Given the description of an element on the screen output the (x, y) to click on. 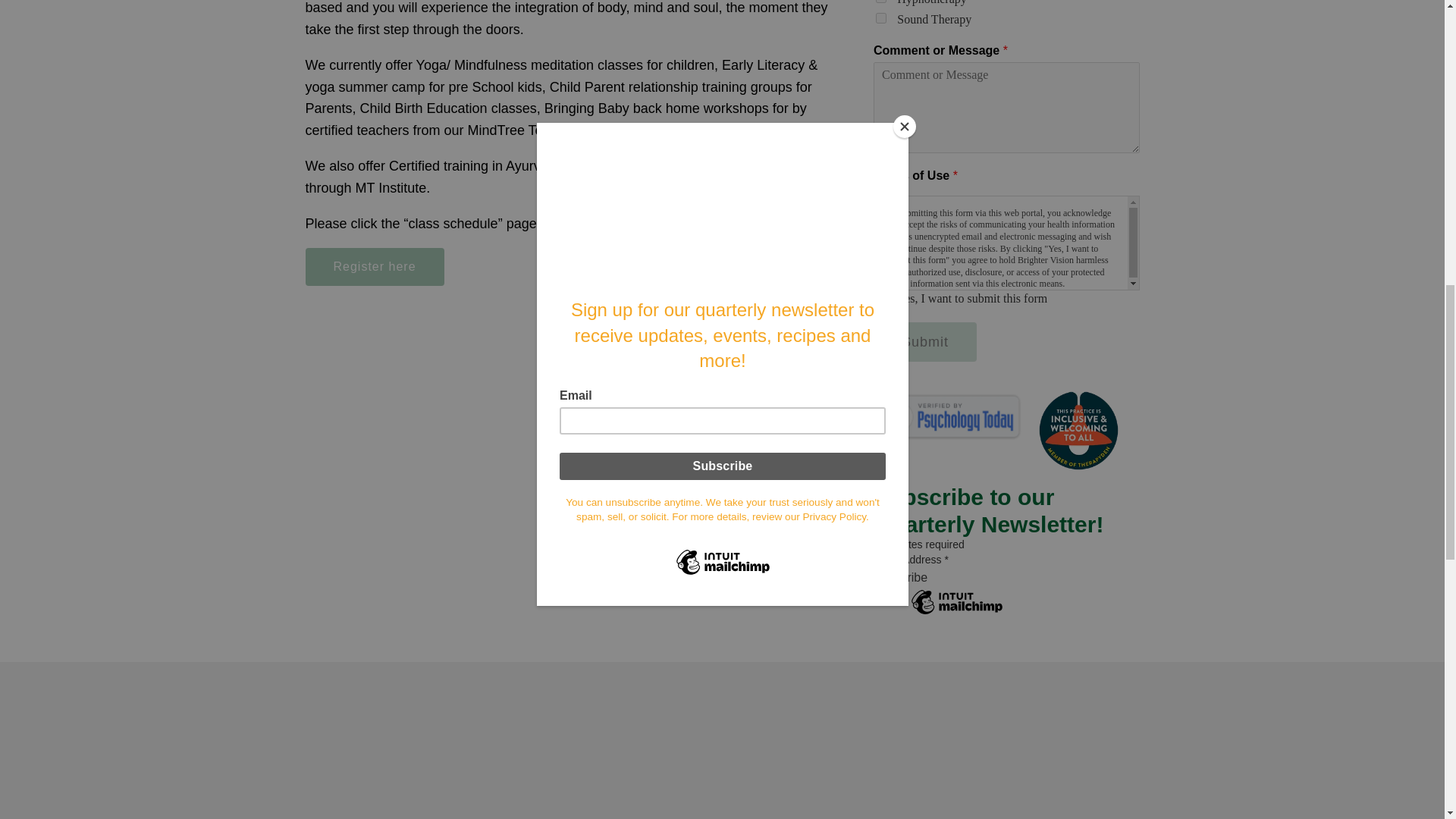
Hypnotherapy (881, 1)
Sound Therapy (881, 18)
Subscribe (900, 577)
Yes, I want to submit this form (881, 296)
Mailchimp - email marketing made easy and fun (957, 612)
